Given the description of an element on the screen output the (x, y) to click on. 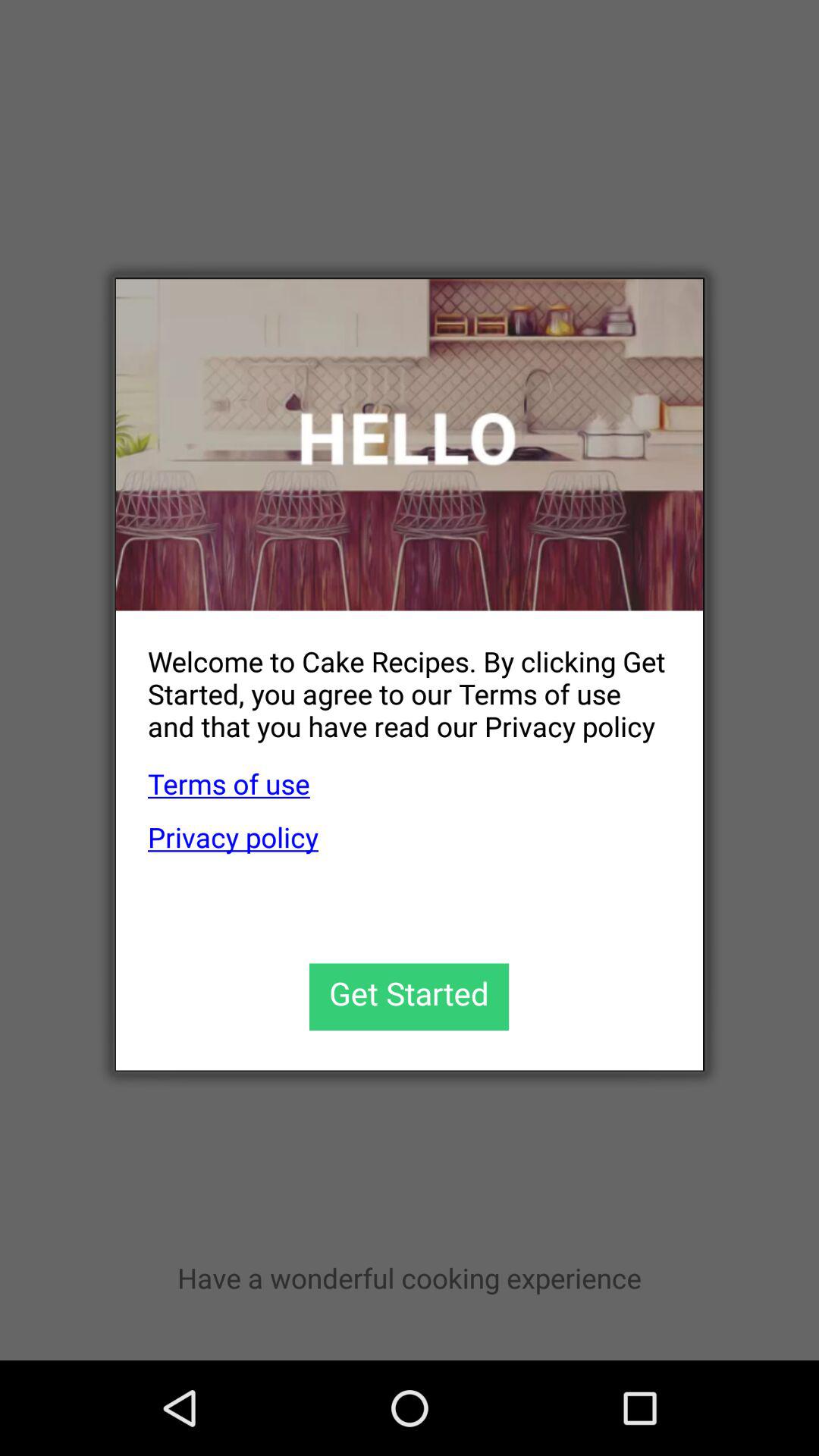
get started (409, 996)
